Given the description of an element on the screen output the (x, y) to click on. 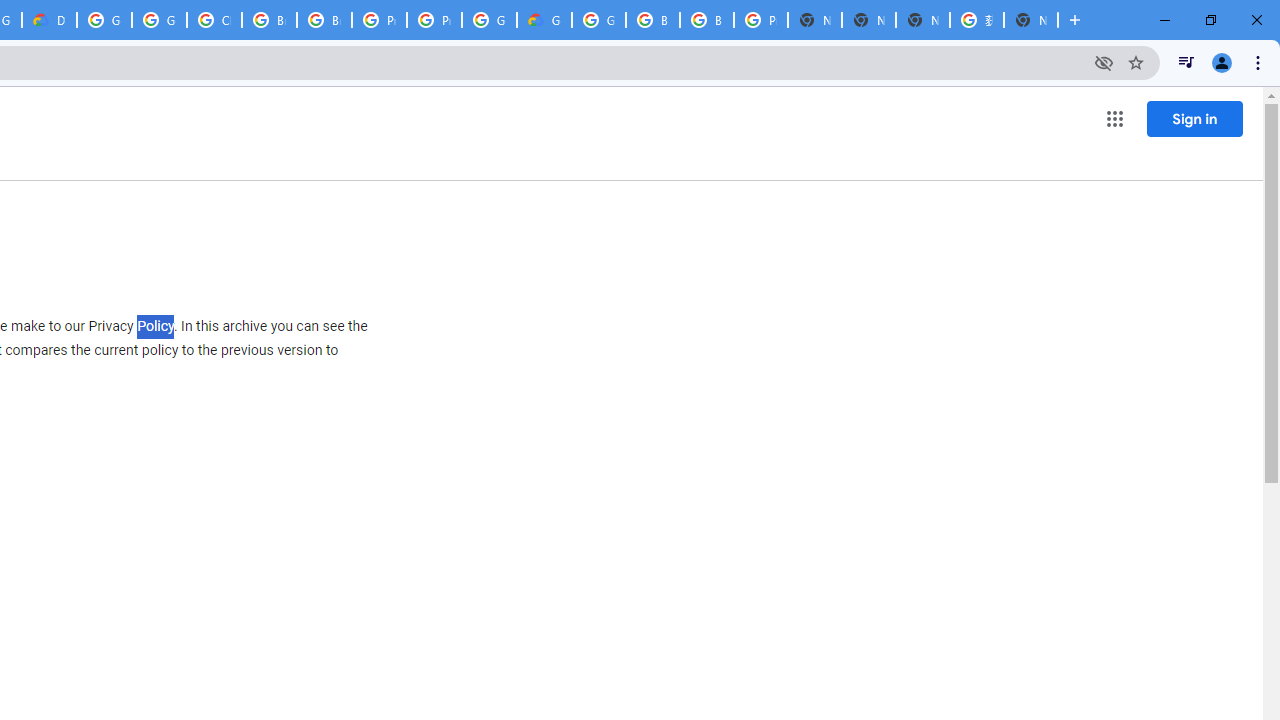
Control your music, videos, and more (1185, 62)
Browse Chrome as a guest - Computer - Google Chrome Help (706, 20)
New Tab (815, 20)
Browse Chrome as a guest - Computer - Google Chrome Help (652, 20)
